Given the description of an element on the screen output the (x, y) to click on. 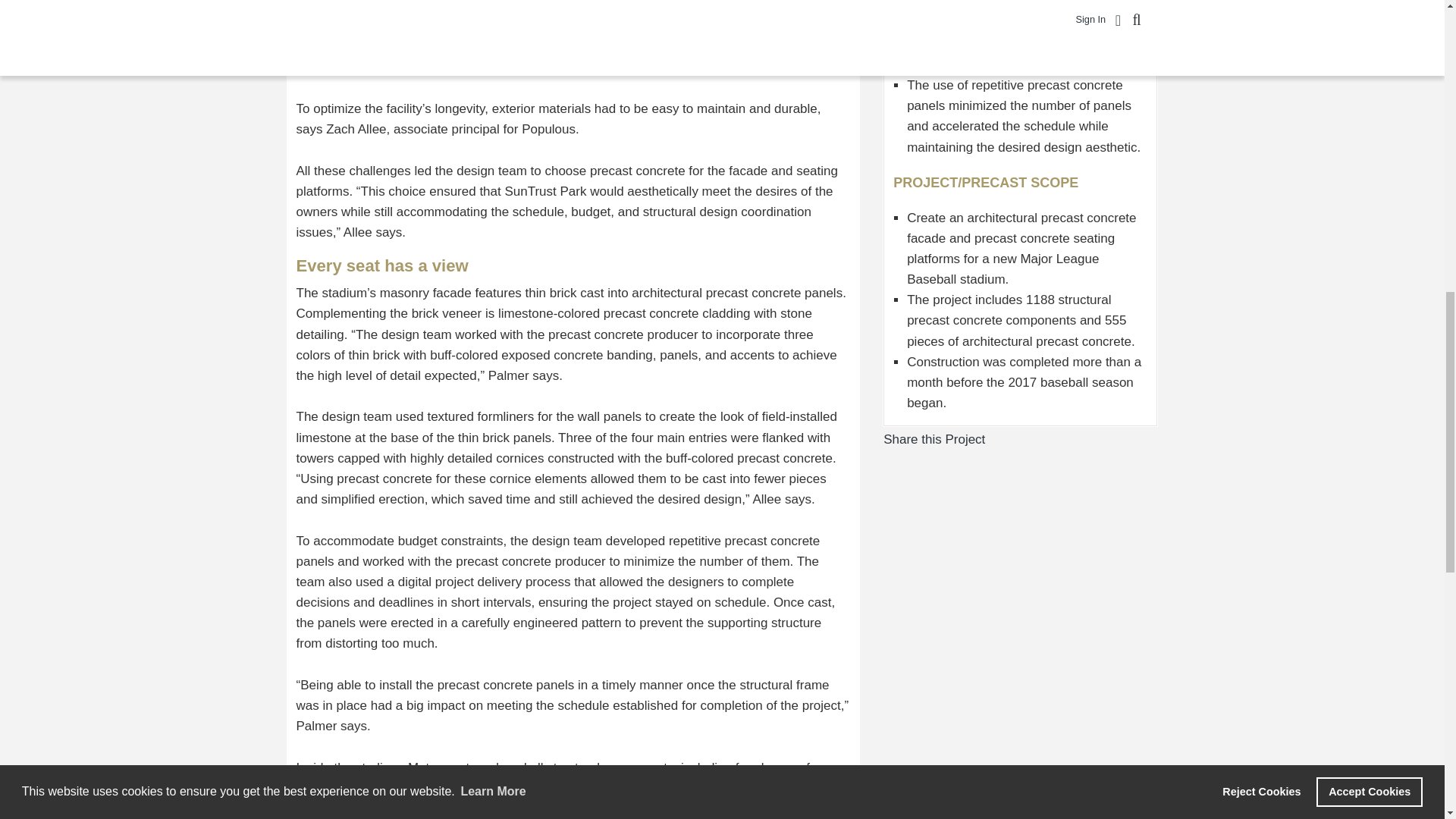
Share on LinkedIn (1028, 439)
Share on Facebook (997, 439)
Email (1043, 439)
Tell a friend (1043, 439)
Show more (1059, 439)
Share on LinkedIn (1028, 439)
Tweet this (1013, 439)
More options (1059, 439)
Share on Facebook (997, 439)
